Given the description of an element on the screen output the (x, y) to click on. 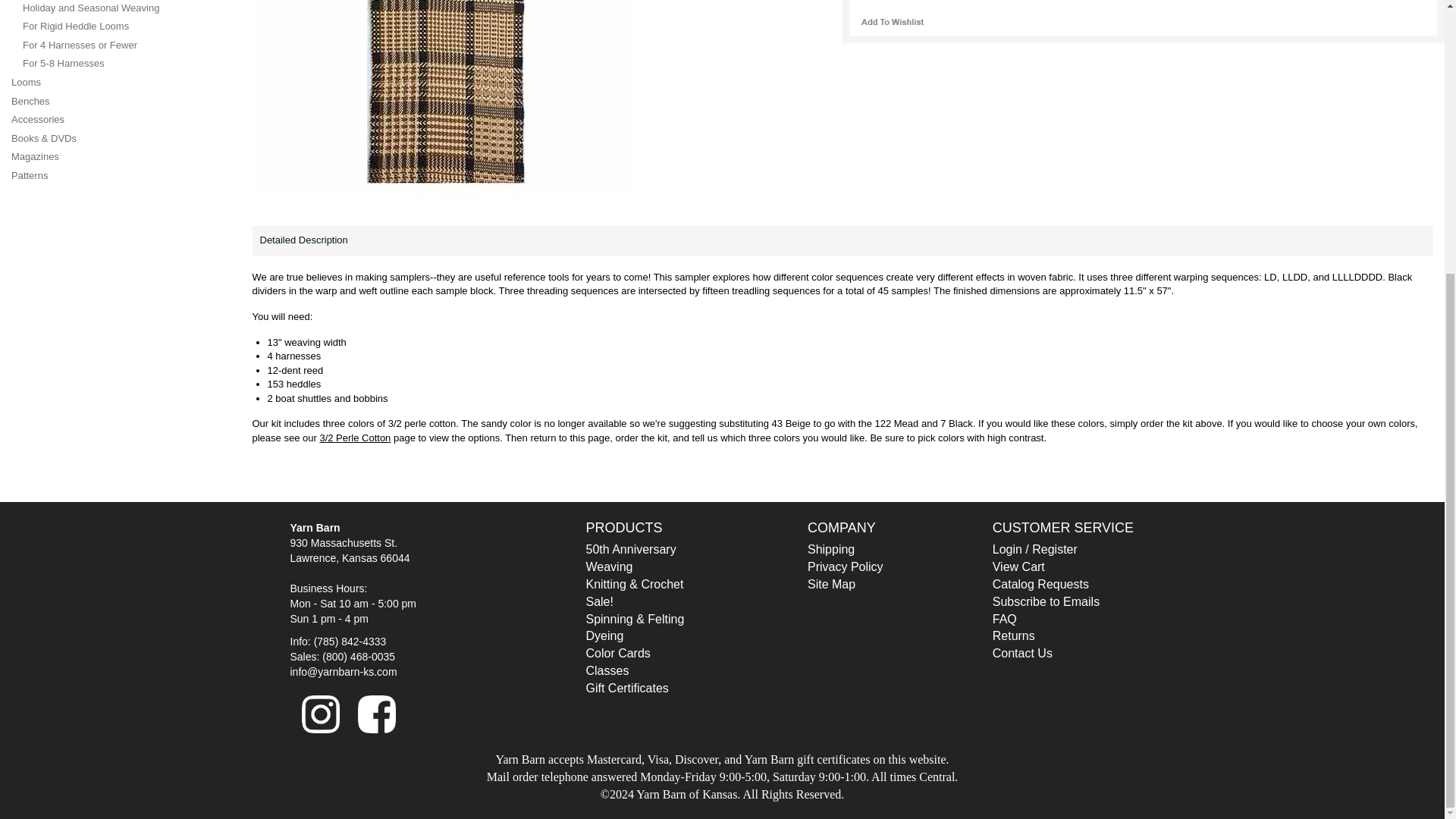
wishlist (892, 21)
